Given the description of an element on the screen output the (x, y) to click on. 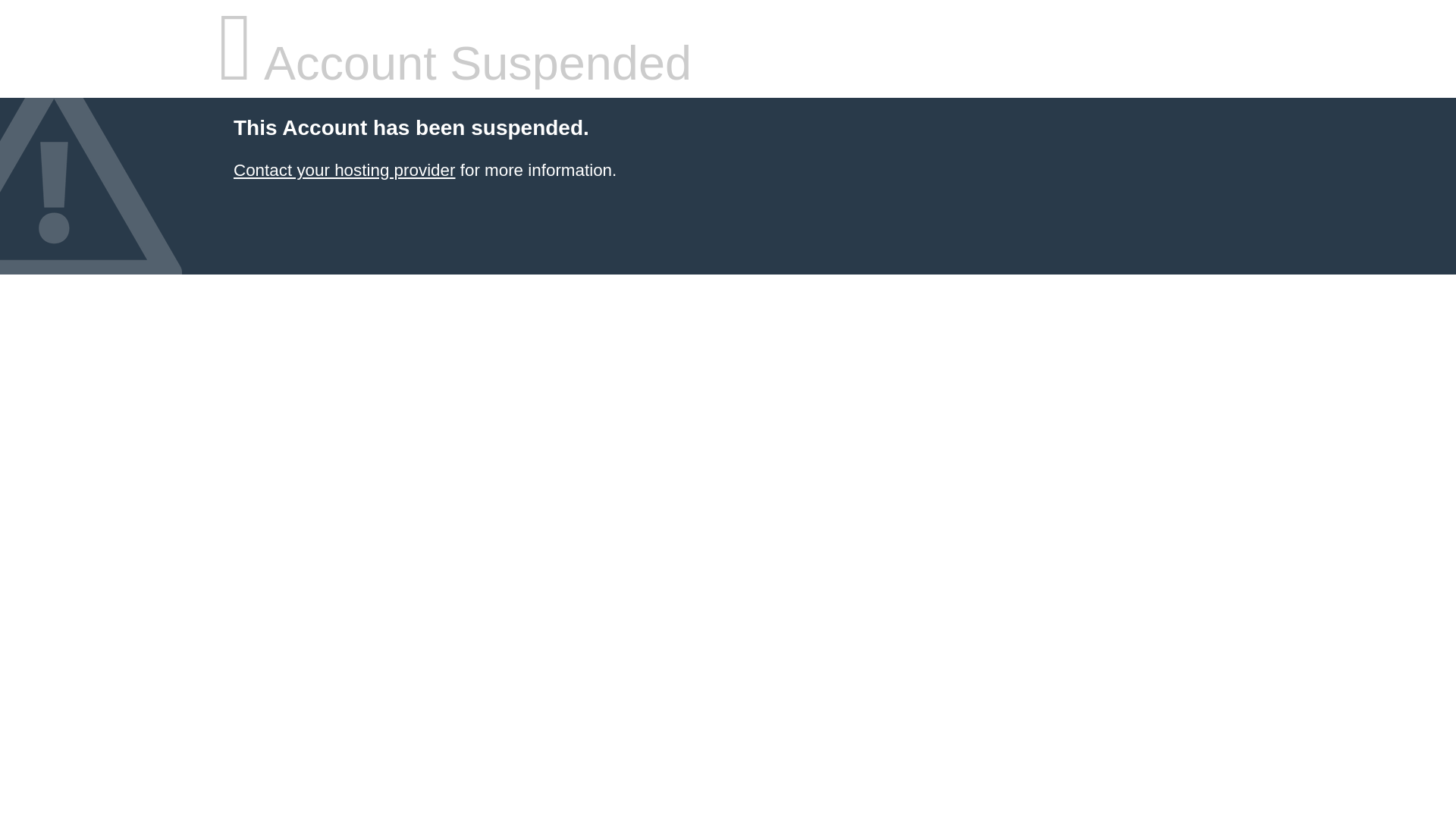
Contact your hosting provider (343, 169)
